Given the description of an element on the screen output the (x, y) to click on. 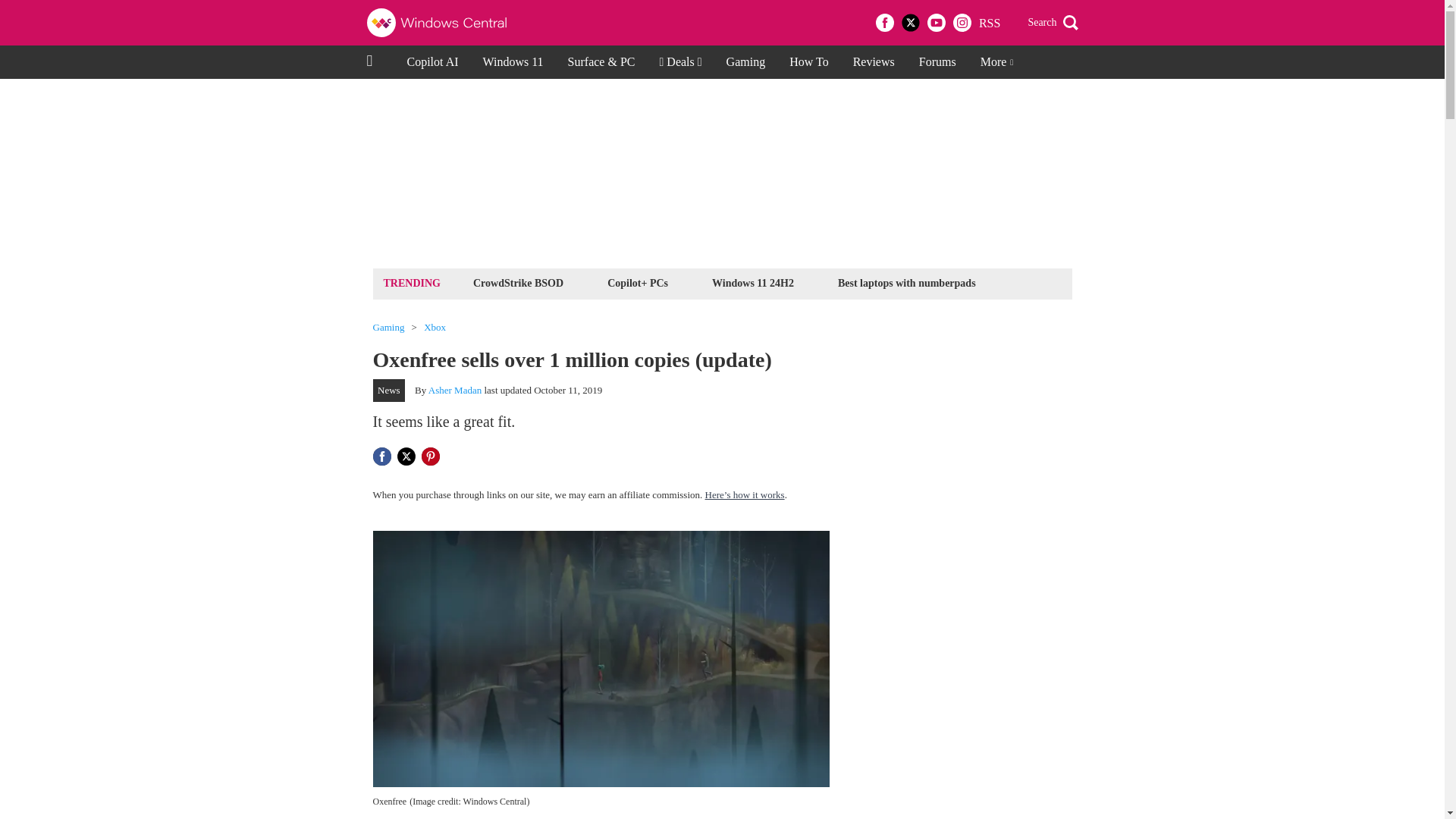
Forums (937, 61)
How To (808, 61)
Copilot AI (432, 61)
Asher Madan (454, 389)
Windows 11 24H2 (752, 282)
Gaming (745, 61)
CrowdStrike BSOD (518, 282)
Gaming (388, 327)
Reviews (874, 61)
Windows 11 (513, 61)
Best laptops with numberpads (906, 282)
RSS (989, 22)
News (389, 390)
